Given the description of an element on the screen output the (x, y) to click on. 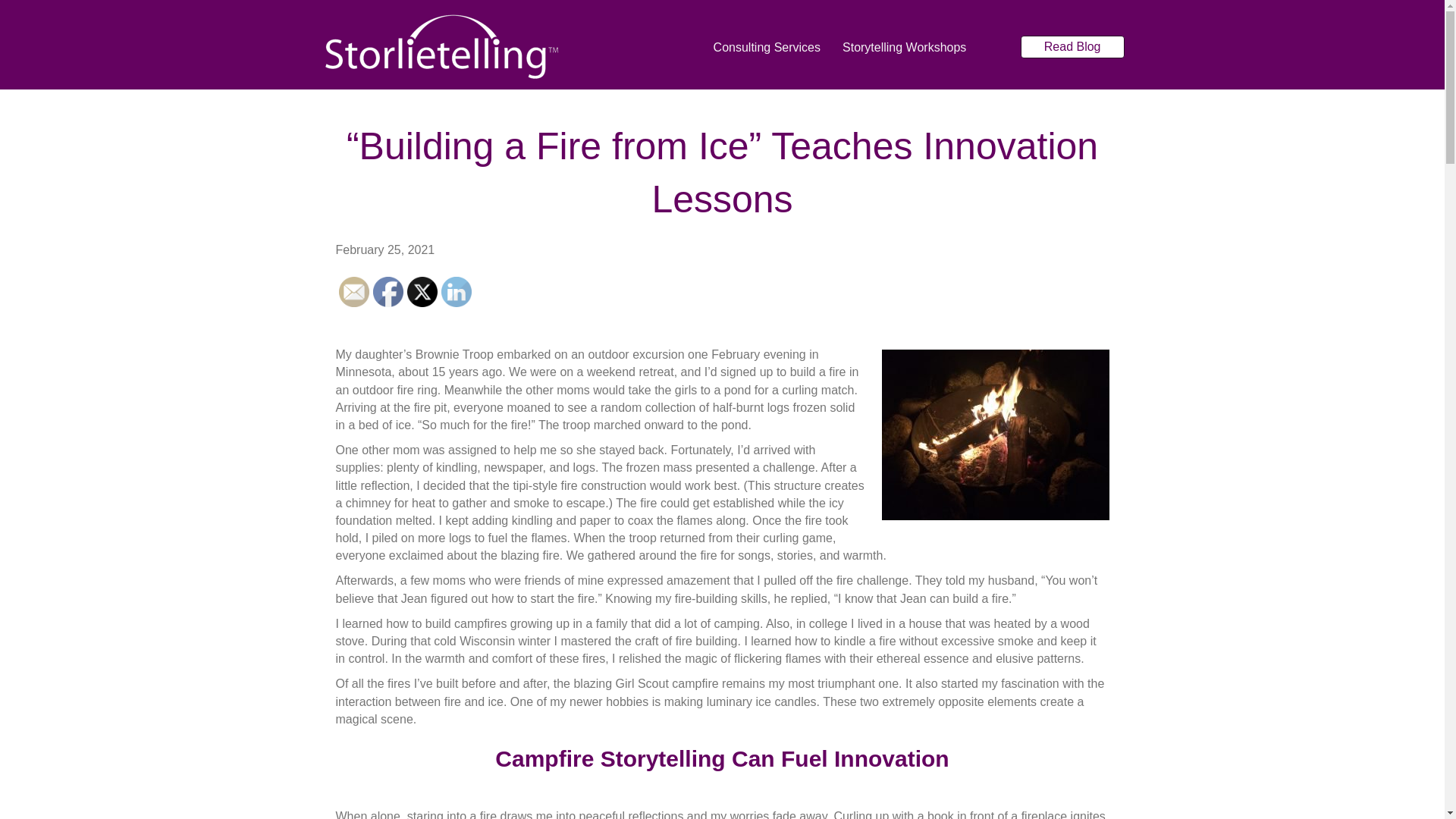
Twitter (421, 291)
white-logstorlietelling-320x93 (441, 46)
Storytelling Workshops (903, 46)
Facebook (387, 291)
Consulting Services (767, 46)
LinkedIn (456, 291)
Read Blog (1072, 46)
Follow by Email (352, 291)
